Given the description of an element on the screen output the (x, y) to click on. 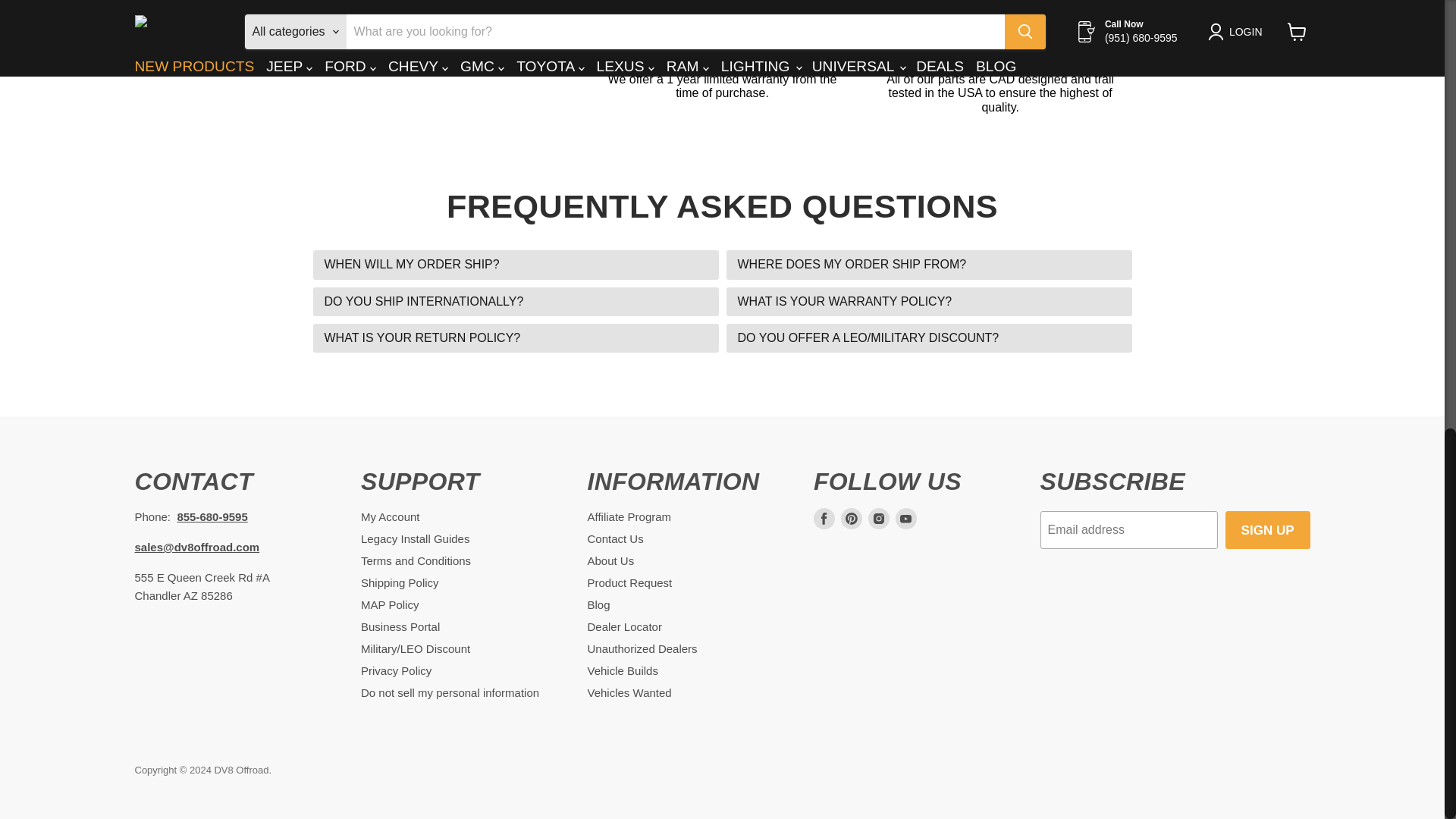
Facebook (823, 518)
Youtube (906, 518)
tel:855-680-9595 (211, 516)
Instagram (878, 518)
Pinterest (851, 518)
